Given the description of an element on the screen output the (x, y) to click on. 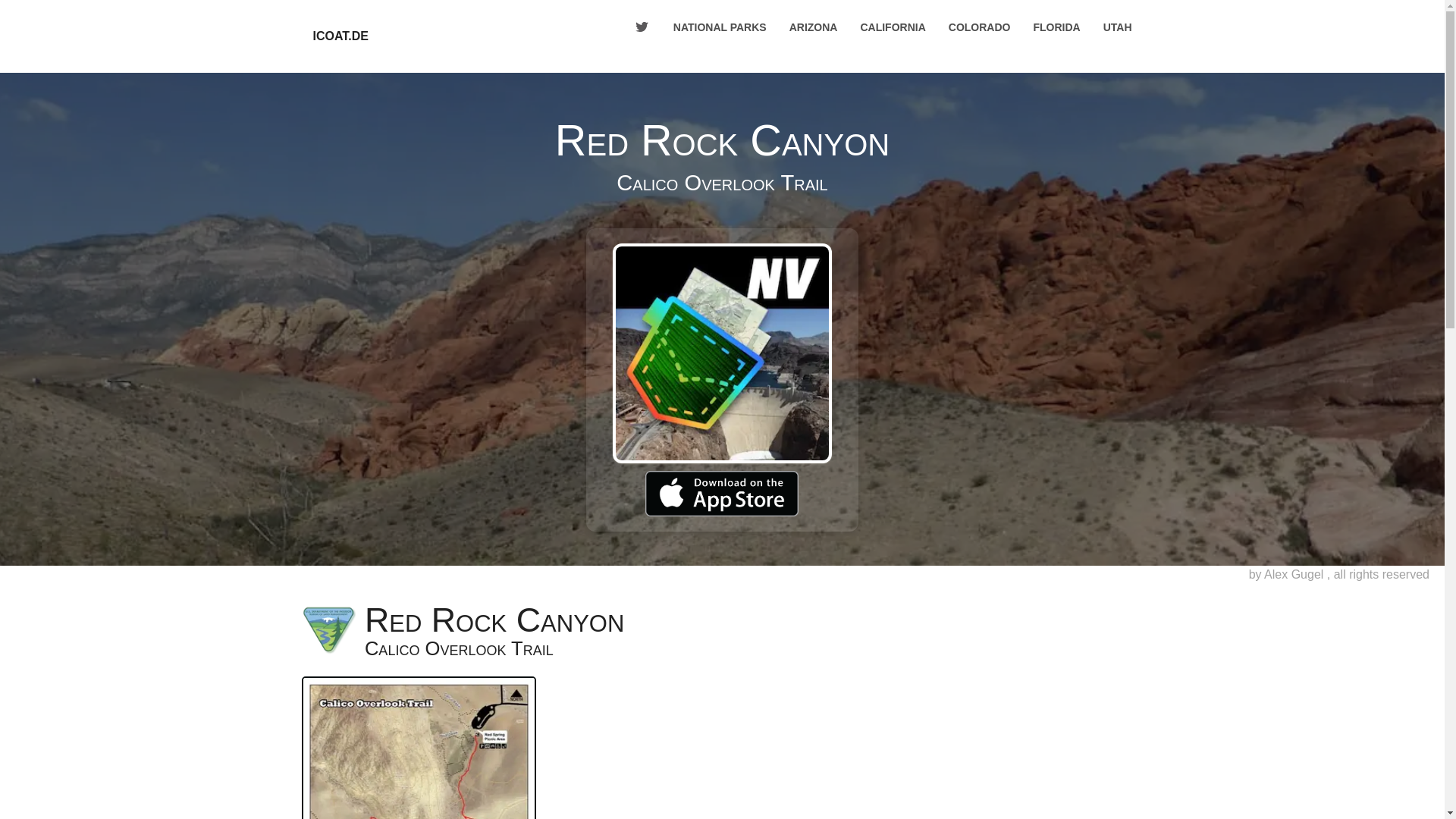
Florida (1056, 27)
Arizona (812, 27)
ICOAT.DE (340, 36)
Colorado (979, 27)
National Parks (719, 27)
NATIONAL PARKS (719, 27)
California (892, 27)
Follow us on Twitter (641, 27)
COLORADO (979, 27)
Utah (1117, 27)
